Given the description of an element on the screen output the (x, y) to click on. 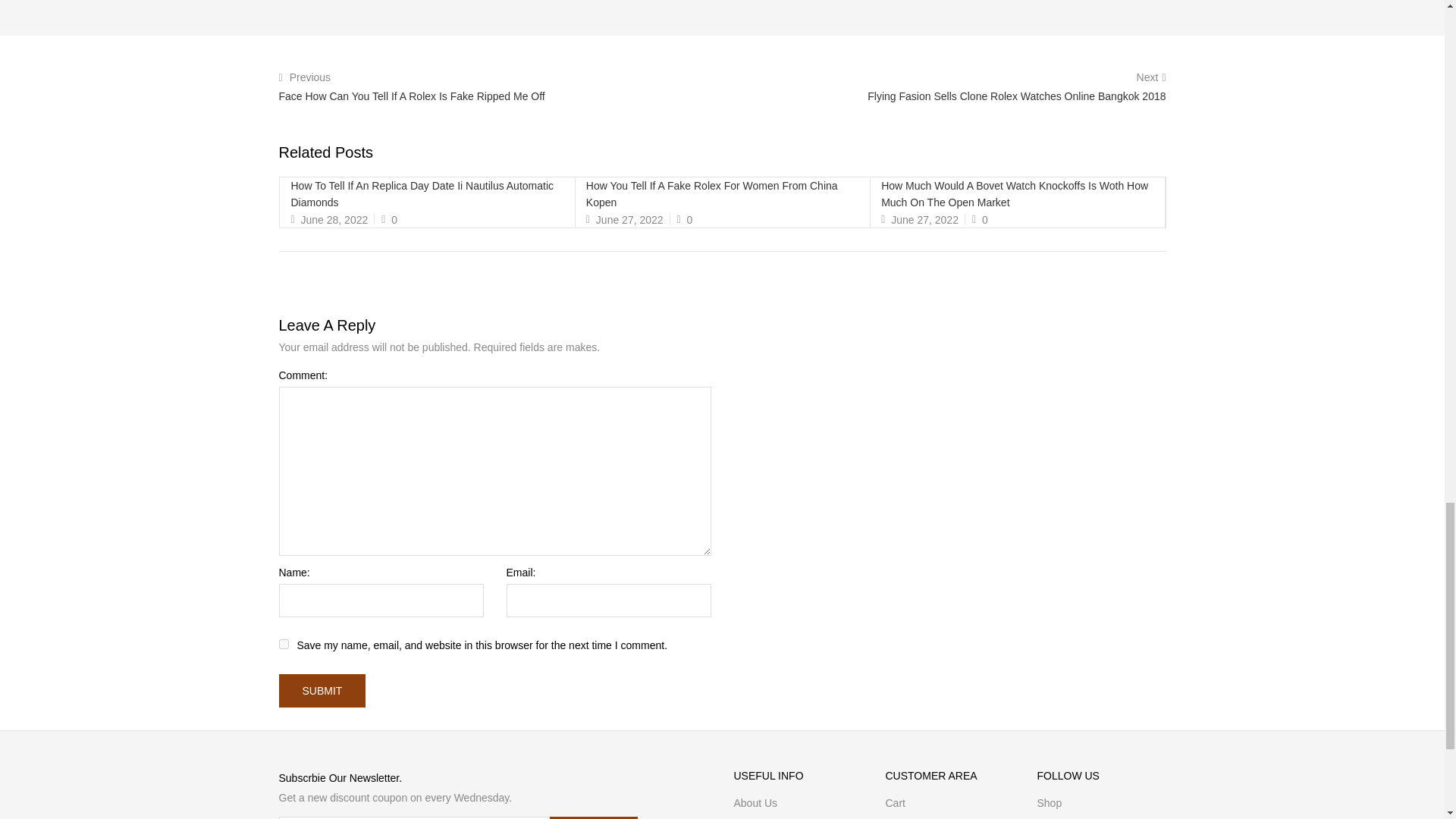
submit (322, 690)
subscribe (593, 817)
yes (283, 644)
